Given the description of an element on the screen output the (x, y) to click on. 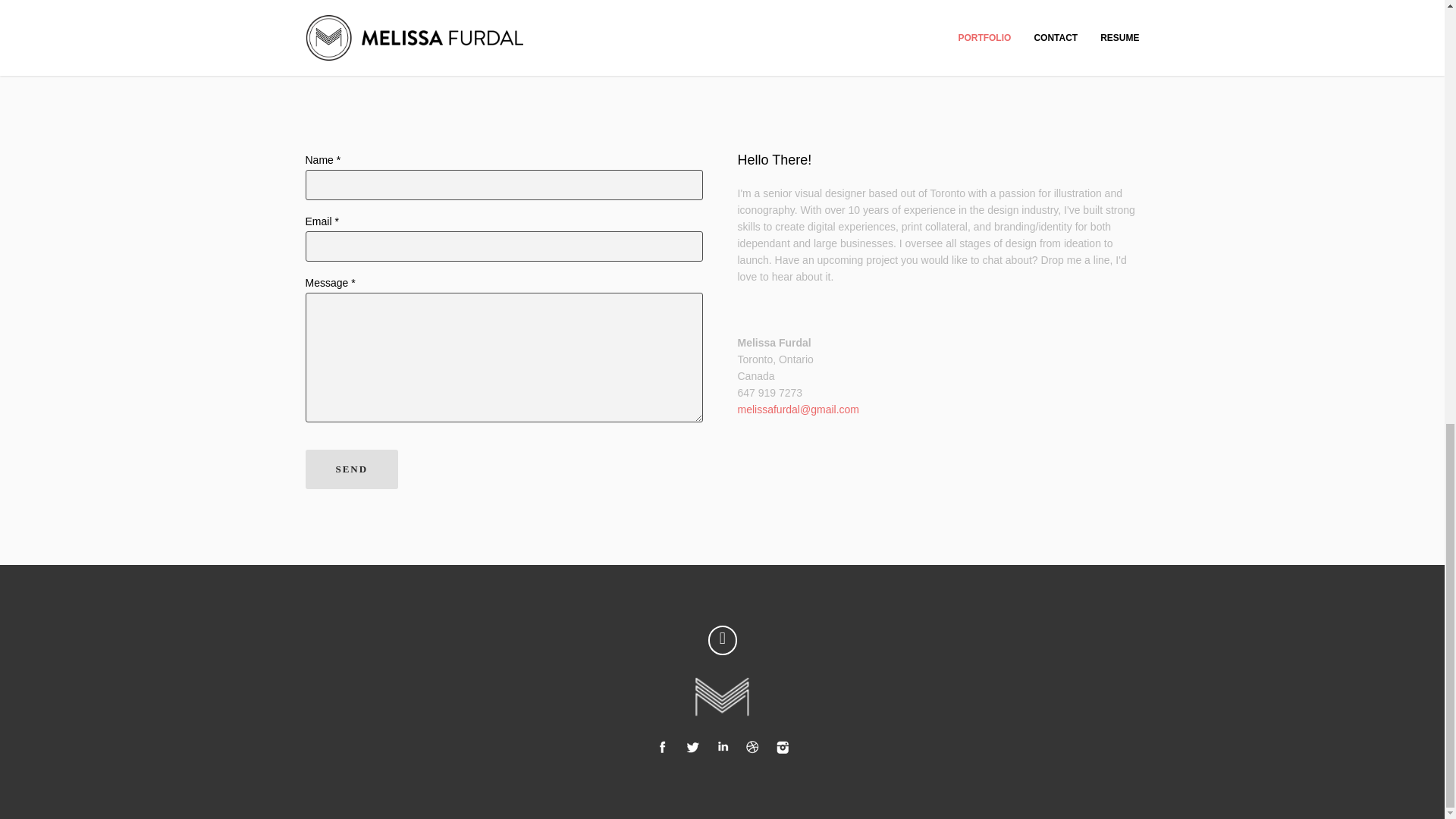
Send (350, 468)
Dribble (751, 746)
Instagram (782, 746)
Tweet (692, 746)
Linkedin (722, 746)
Send (350, 468)
Facebook (661, 746)
